Given the description of an element on the screen output the (x, y) to click on. 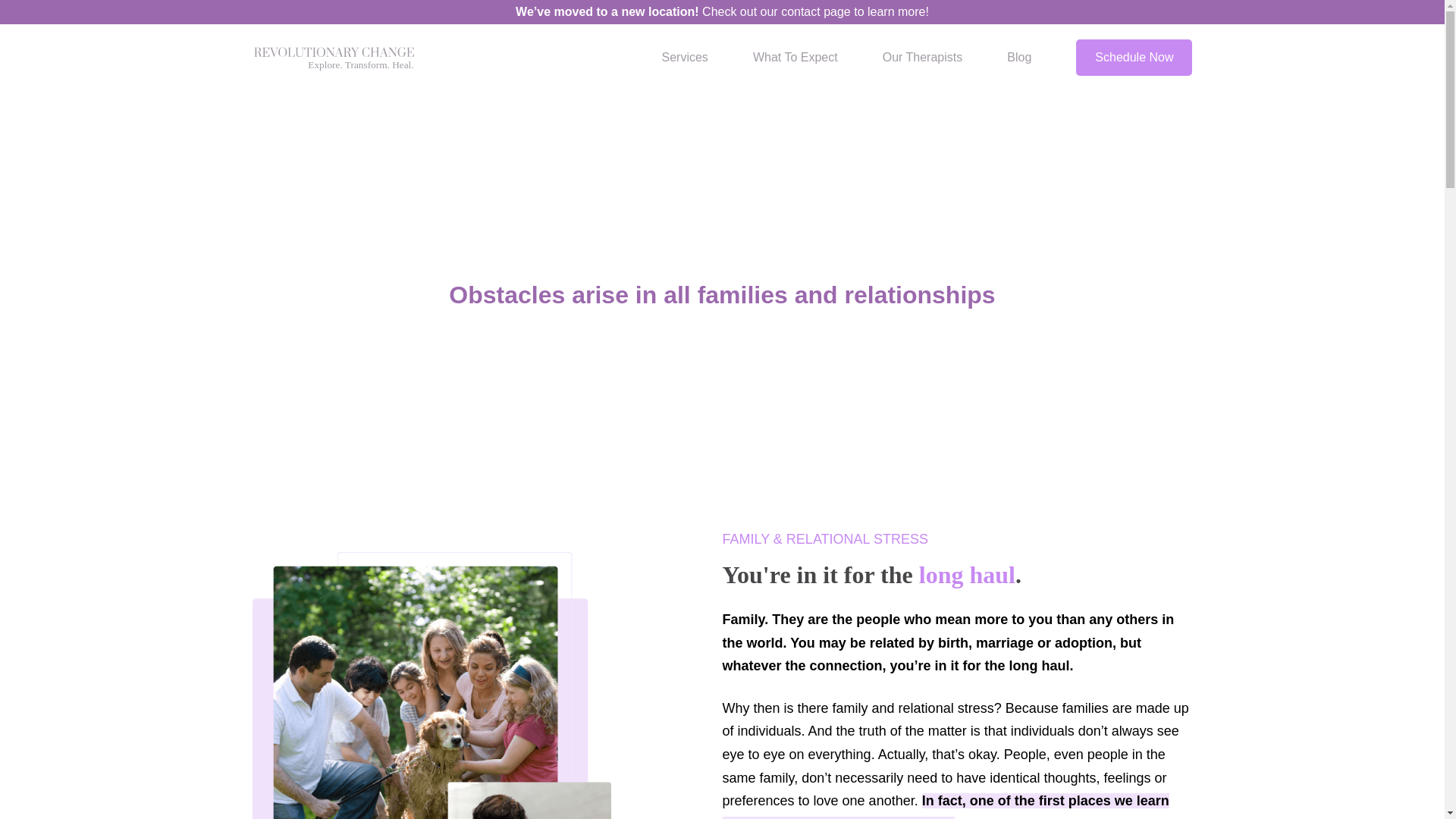
What To Expect (795, 56)
Blog (1018, 56)
Services (684, 56)
Schedule Now (1133, 56)
Our Therapists (922, 56)
